Given the description of an element on the screen output the (x, y) to click on. 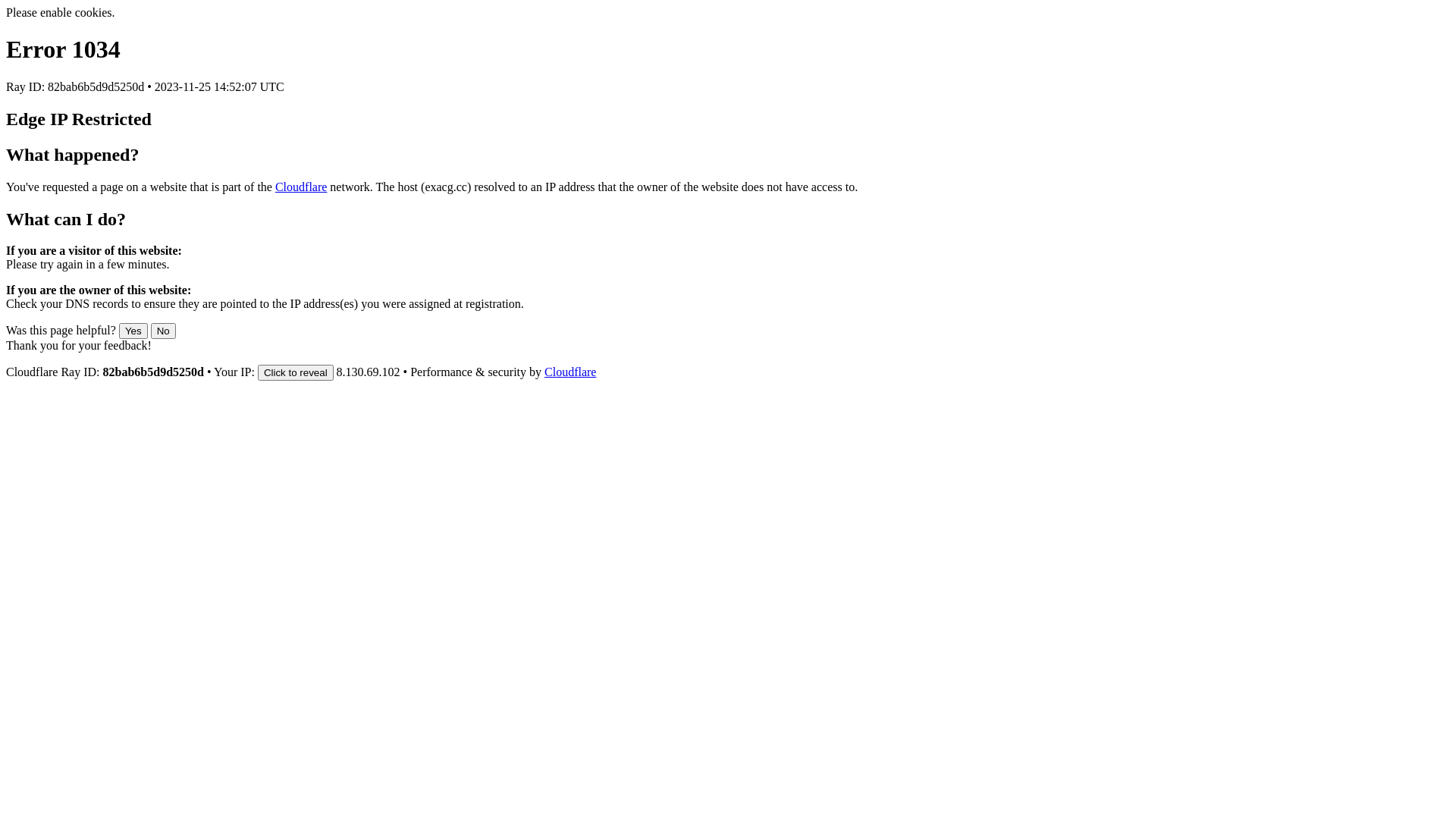
Cloudflare Element type: text (300, 186)
Click to reveal Element type: text (295, 372)
Yes Element type: text (133, 330)
No Element type: text (162, 330)
Cloudflare Element type: text (570, 371)
